Given the description of an element on the screen output the (x, y) to click on. 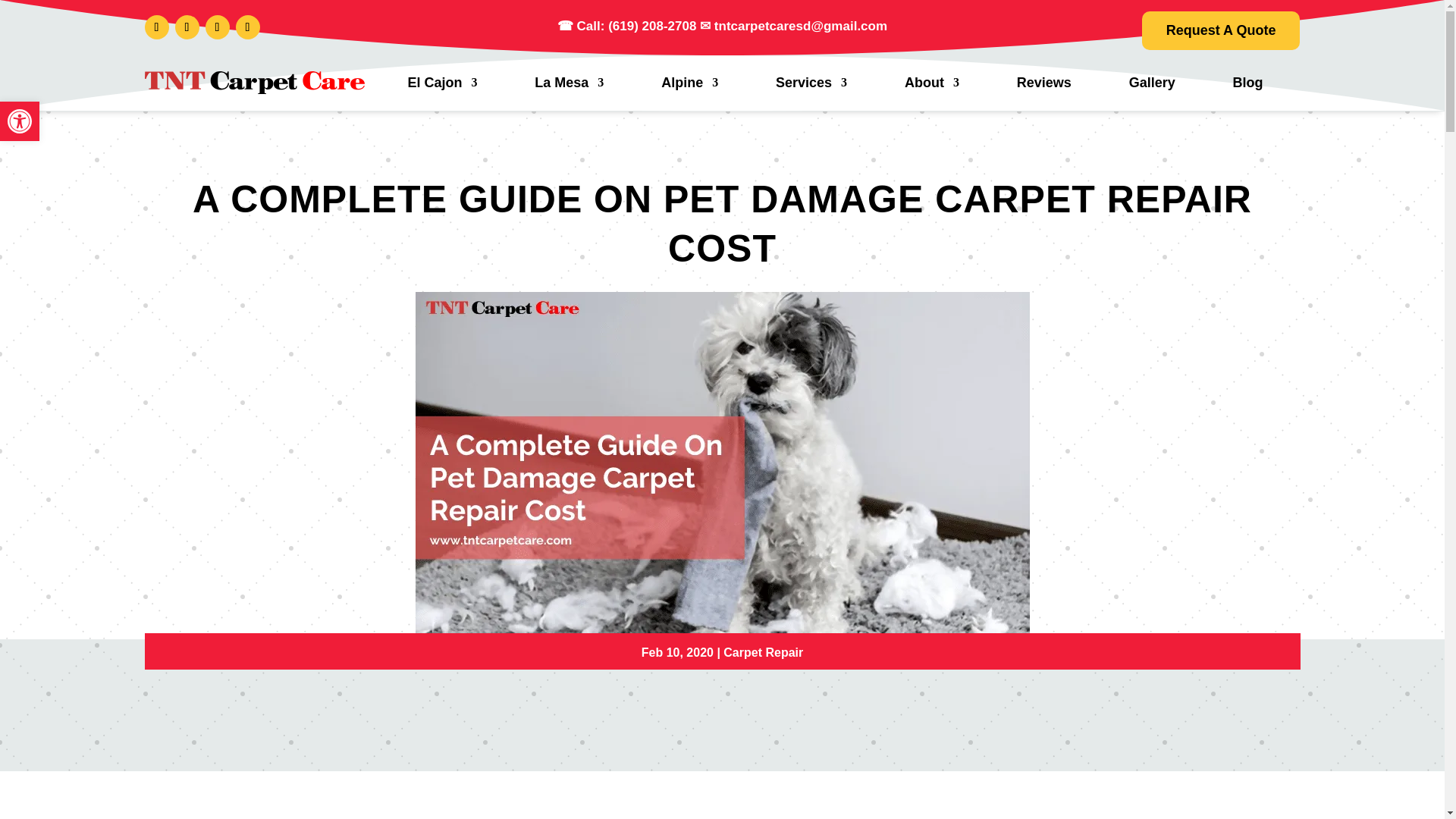
El Cajon (442, 82)
Request A Quote (1220, 30)
Follow on Instagram (216, 27)
Follow on LinkedIn (246, 27)
Follow on Facebook (156, 27)
Follow on X (186, 27)
Accessibility Tools (19, 120)
Carpet Repair (763, 652)
About (931, 82)
Alpine (689, 82)
La Mesa (569, 82)
Accessibility Tools (19, 120)
Services (811, 82)
Reviews (1043, 82)
